Given the description of an element on the screen output the (x, y) to click on. 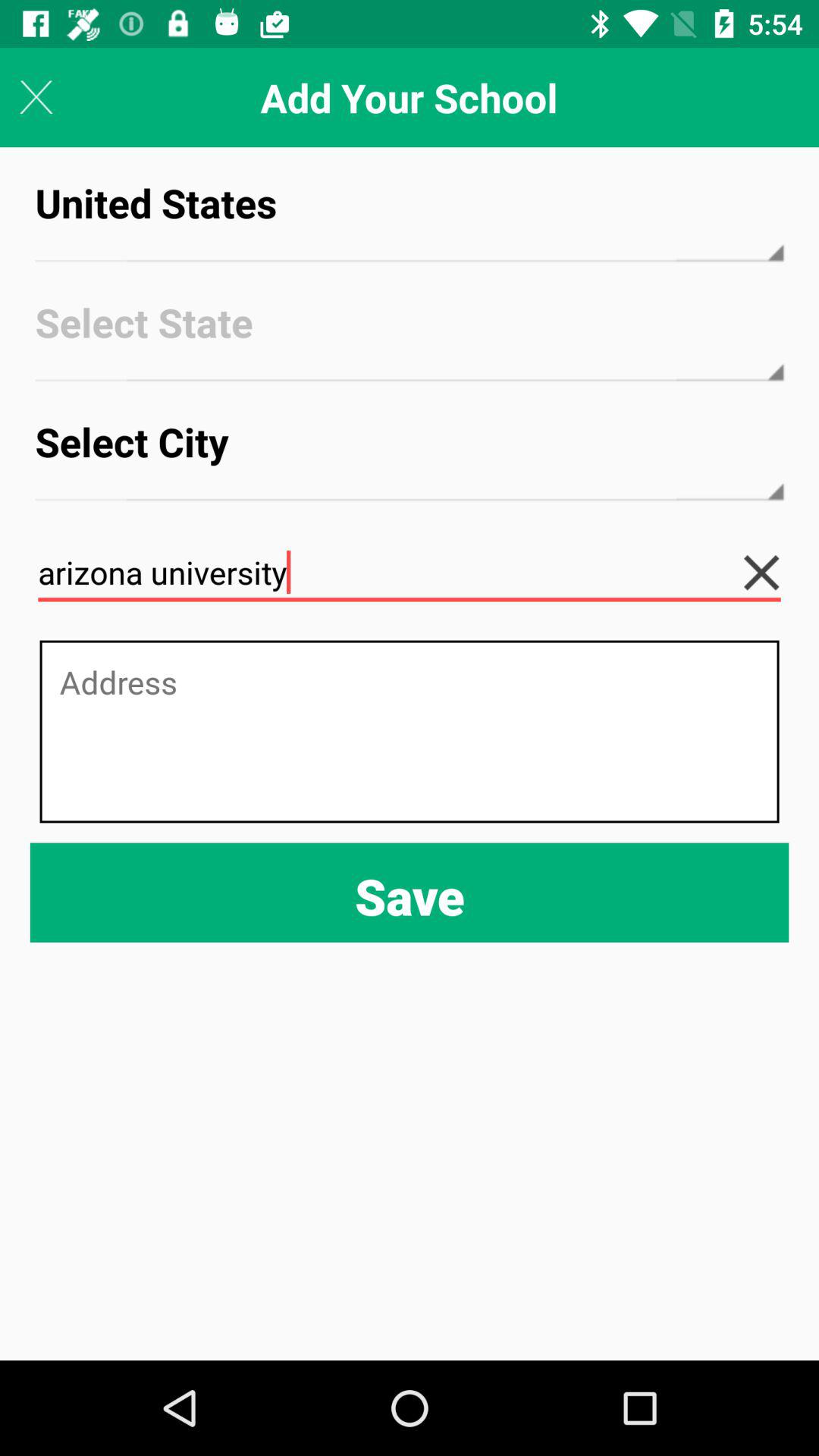
enter address (409, 731)
